Given the description of an element on the screen output the (x, y) to click on. 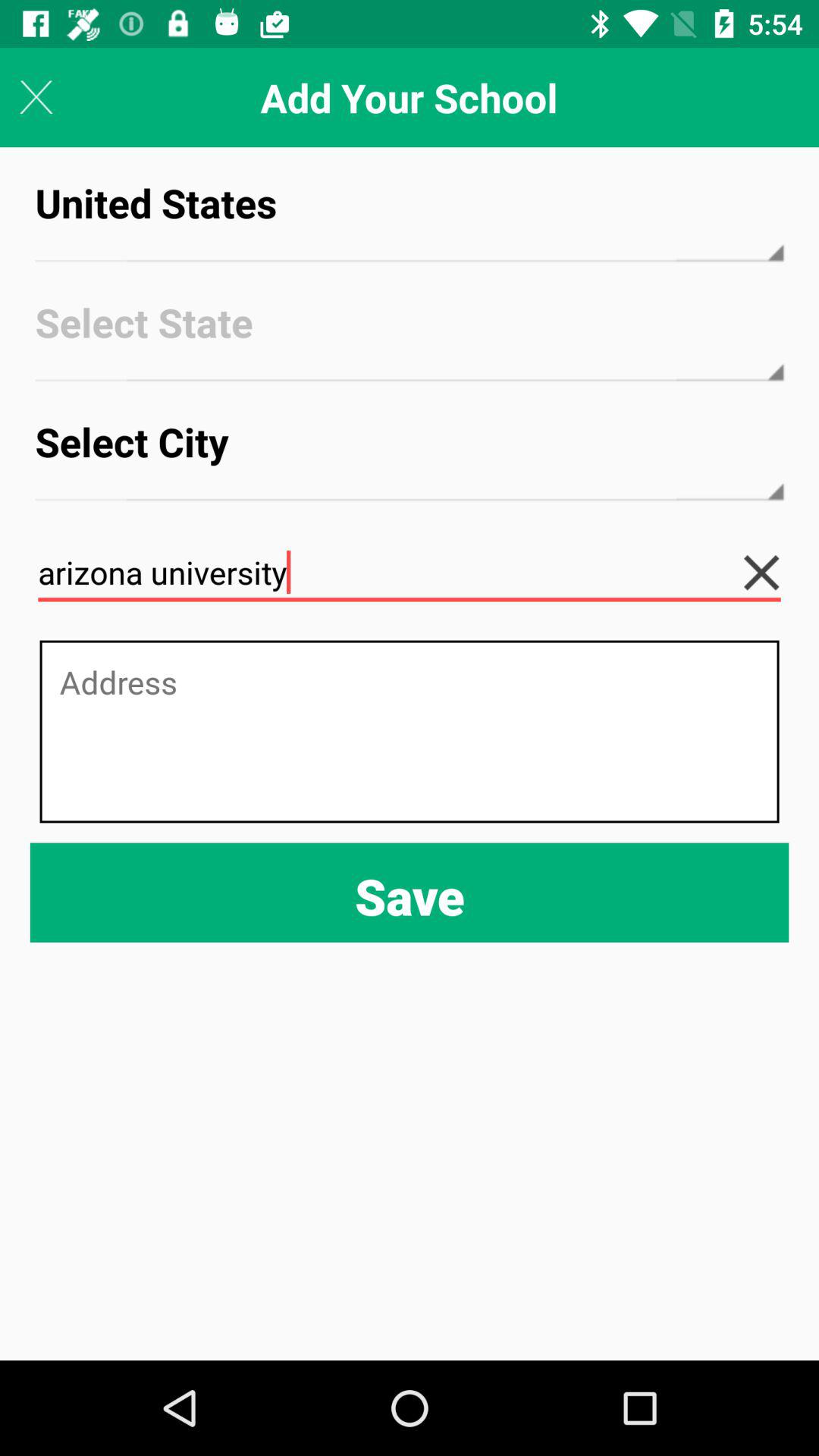
enter address (409, 731)
